Given the description of an element on the screen output the (x, y) to click on. 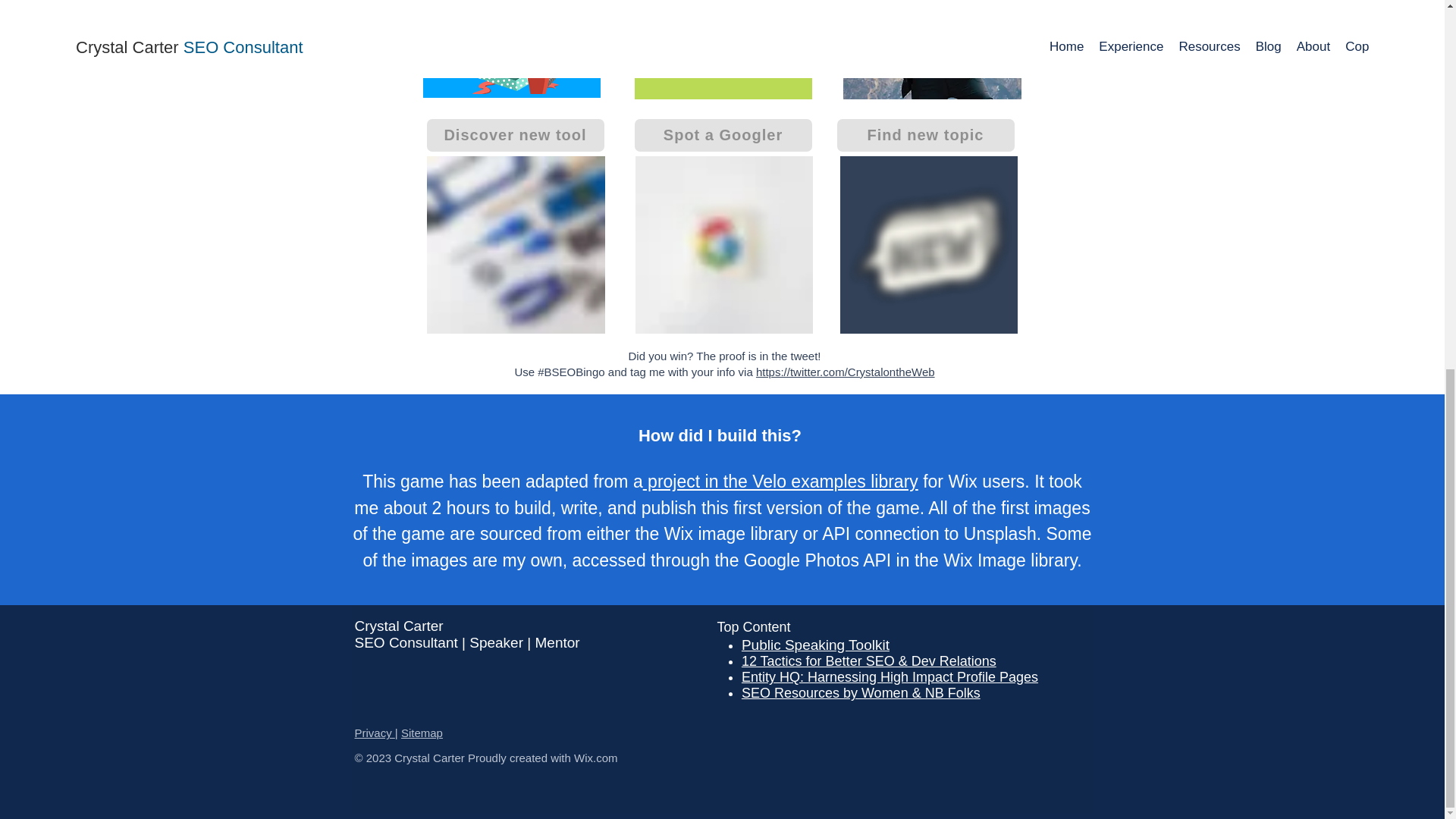
Twitter (928, 244)
Twitter (511, 48)
Entity HQ: Harnessing High Impact Profile Pages (889, 676)
Crystal Carter (399, 625)
Twitter (723, 244)
Sitemap (421, 732)
Public Speaking Toolkit (815, 645)
Privacy (374, 732)
Wix.com (595, 757)
project in the Velo examples library (780, 481)
